Given the description of an element on the screen output the (x, y) to click on. 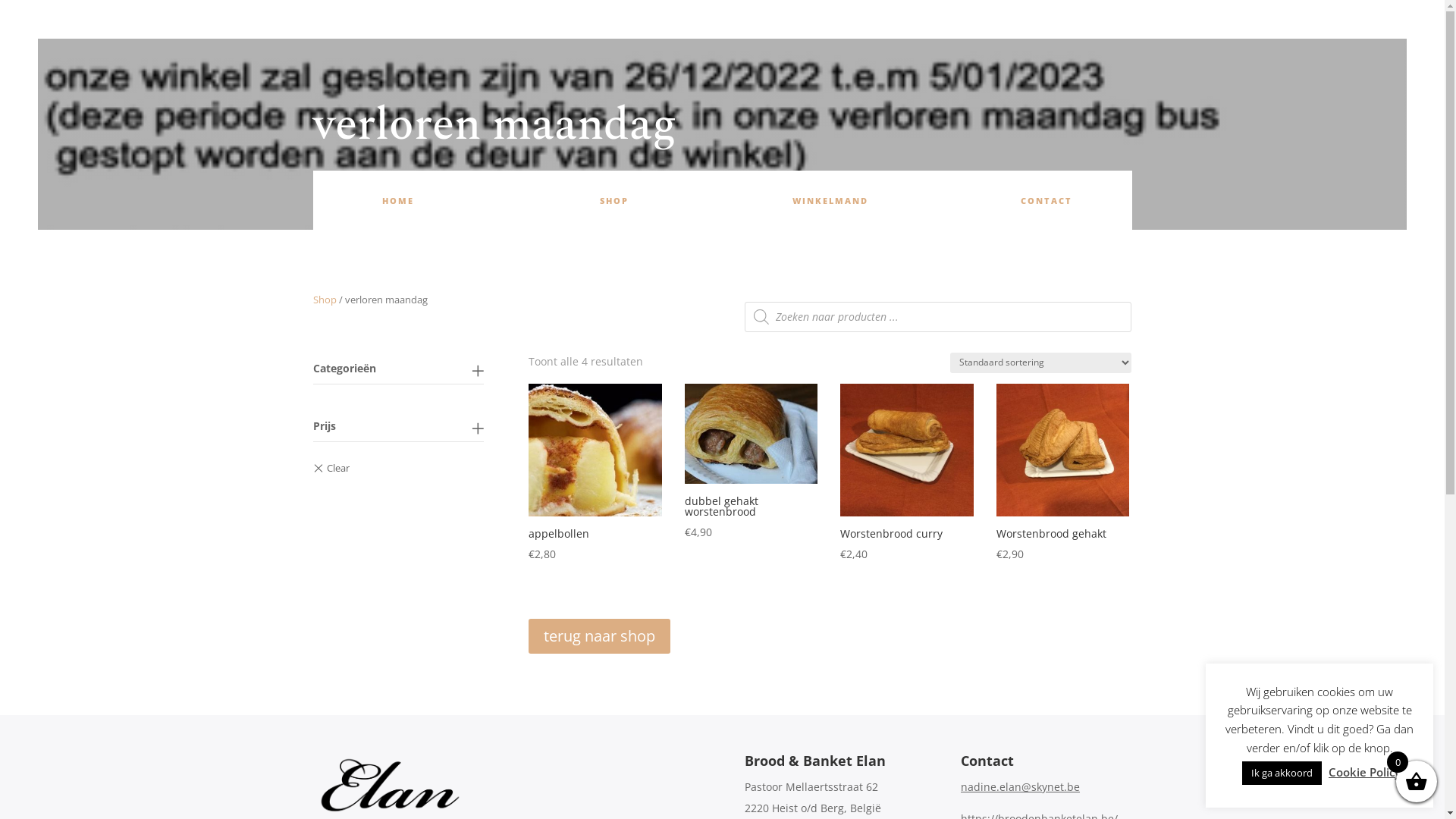
Ik ga akkoord Element type: text (1281, 772)
WINKELMAND Element type: text (830, 201)
HOME Element type: text (397, 201)
Shop Element type: text (323, 299)
Cookie Policy Element type: text (1364, 771)
terug naar shop Element type: text (599, 635)
CONTACT Element type: text (1046, 201)
SHOP Element type: text (614, 201)
nadine.elan@skynet.be Element type: text (1019, 786)
